Given the description of an element on the screen output the (x, y) to click on. 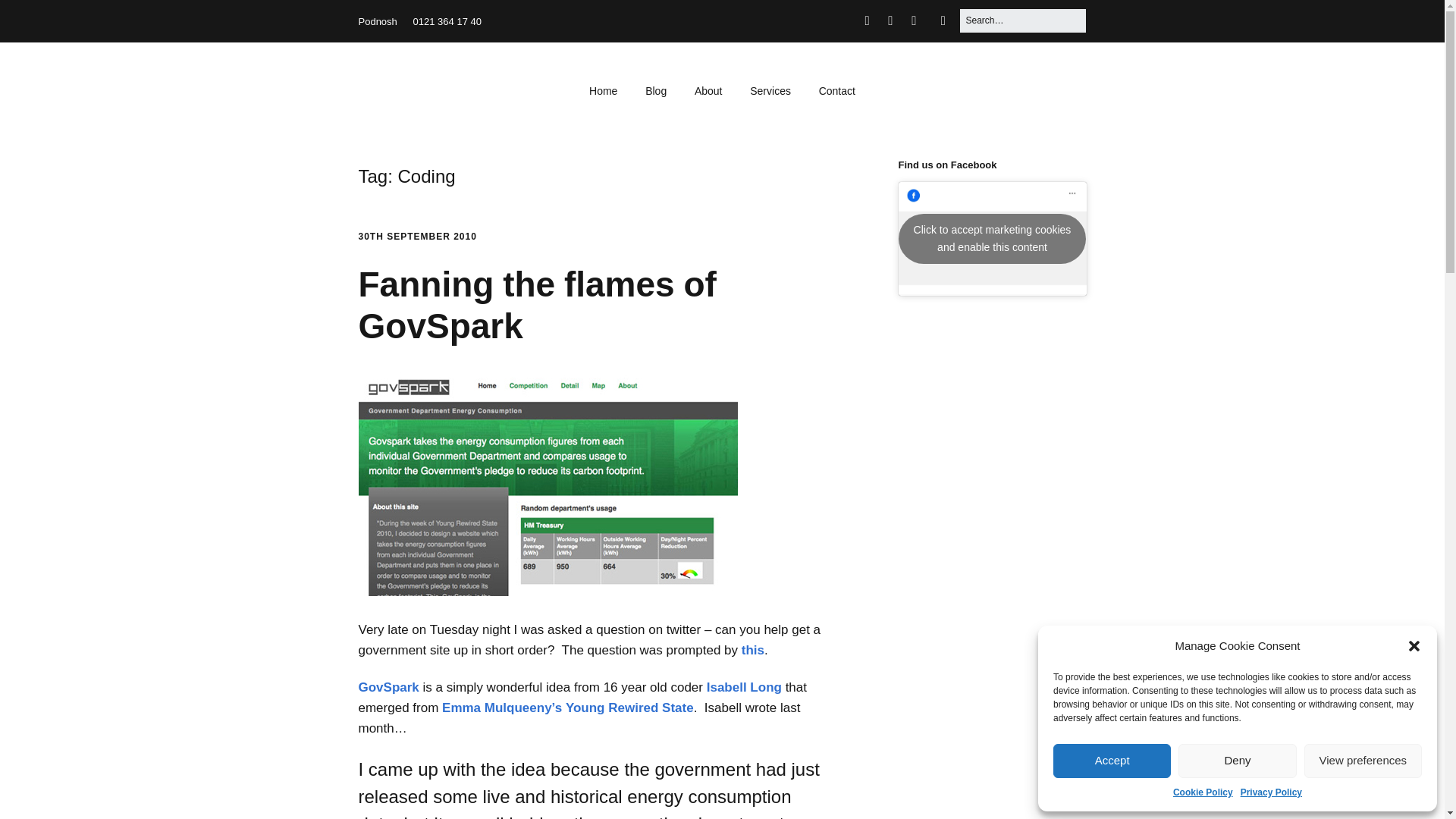
Accept (1111, 760)
Isabell's blog. (743, 687)
0121 364 17 40 (447, 21)
About (708, 91)
30TH SEPTEMBER 2010 (417, 235)
Emma's blog (502, 707)
Privacy Policy (1270, 792)
Gobsaprk environment and civil servant (388, 687)
Isabell Long (743, 687)
Home (602, 91)
